Given the description of an element on the screen output the (x, y) to click on. 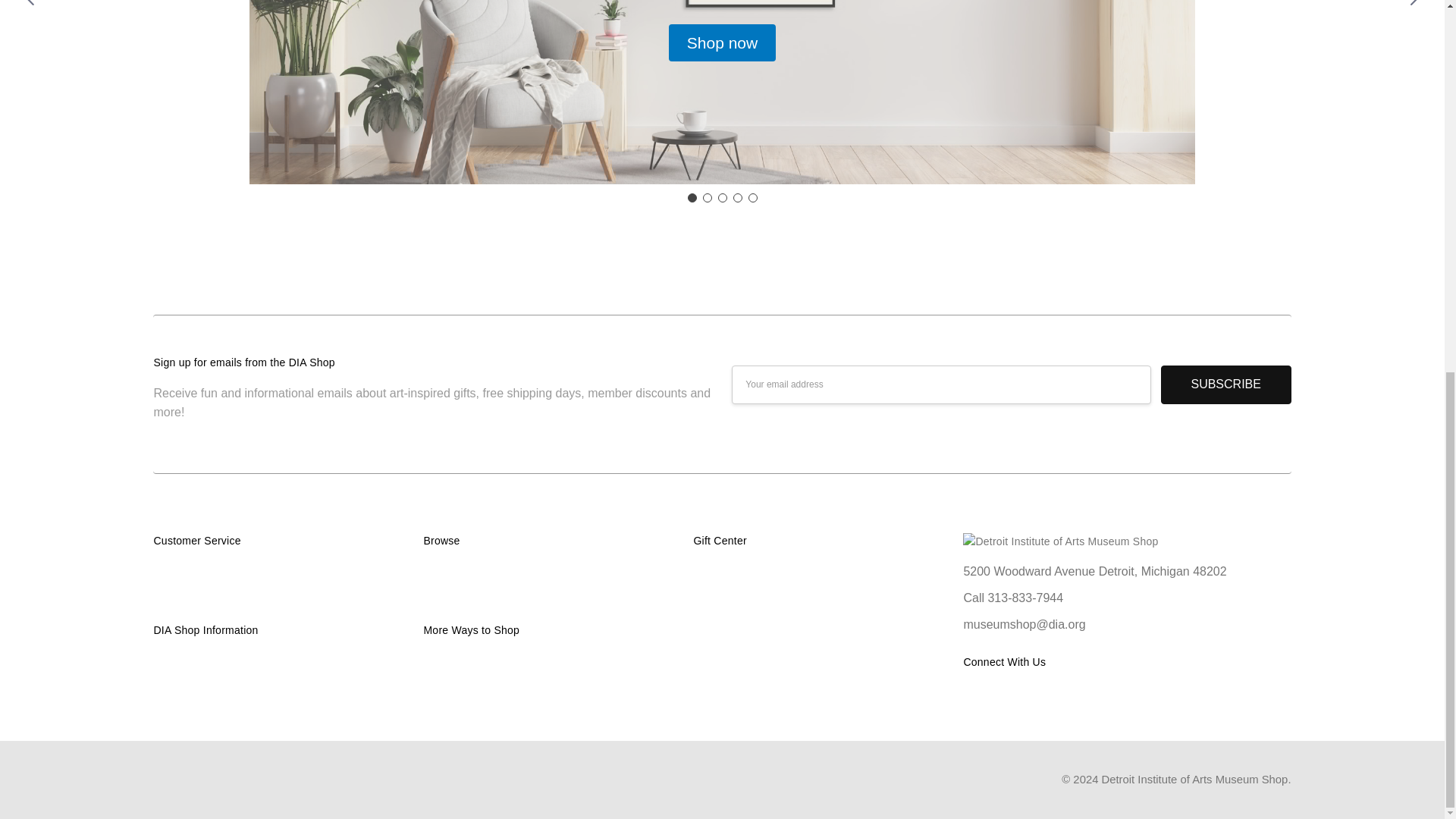
Detroit Institute of Arts Museum Shop (1059, 541)
Subscribe (1225, 384)
